Given the description of an element on the screen output the (x, y) to click on. 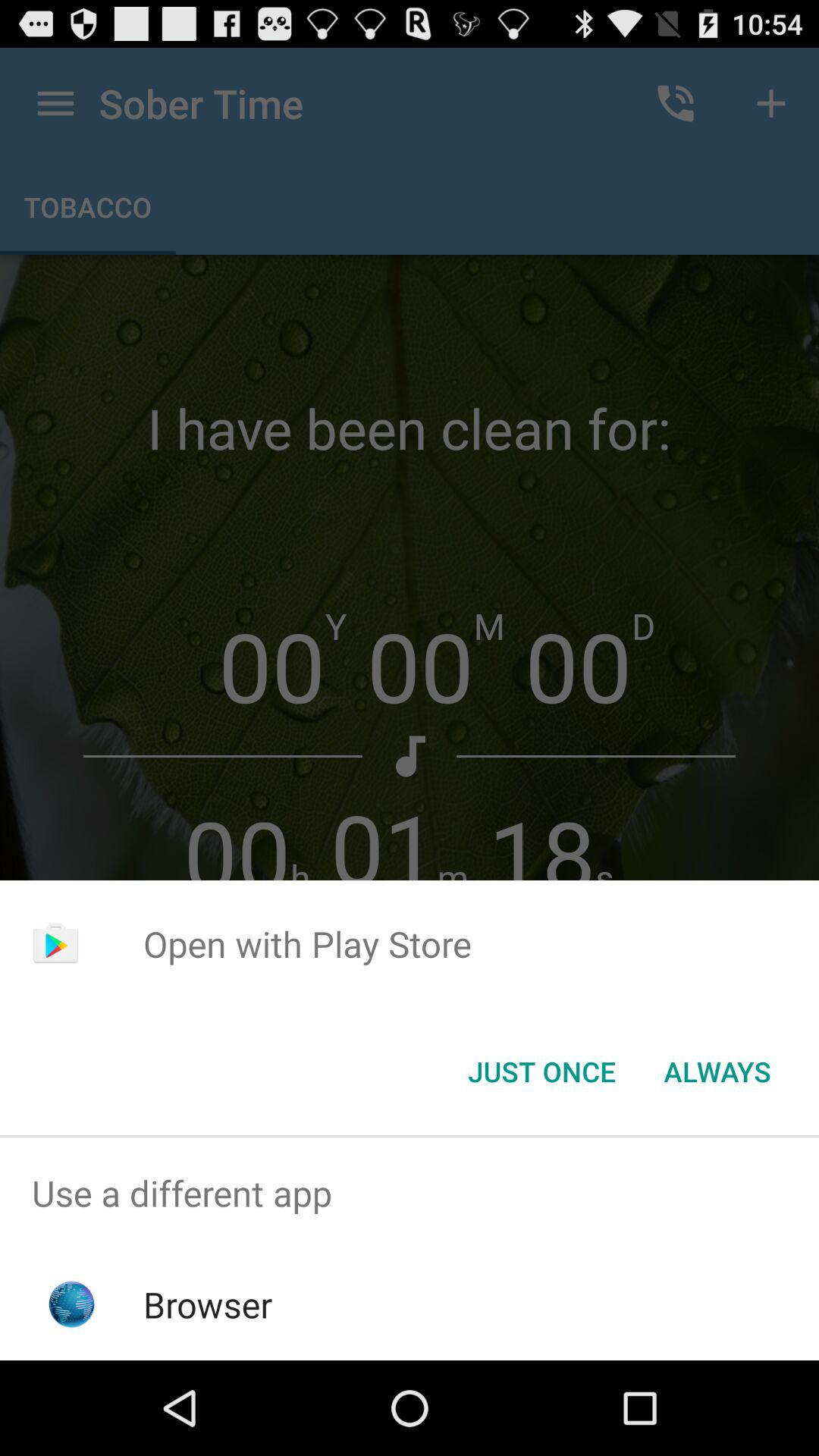
open icon below the use a different app (207, 1304)
